Given the description of an element on the screen output the (x, y) to click on. 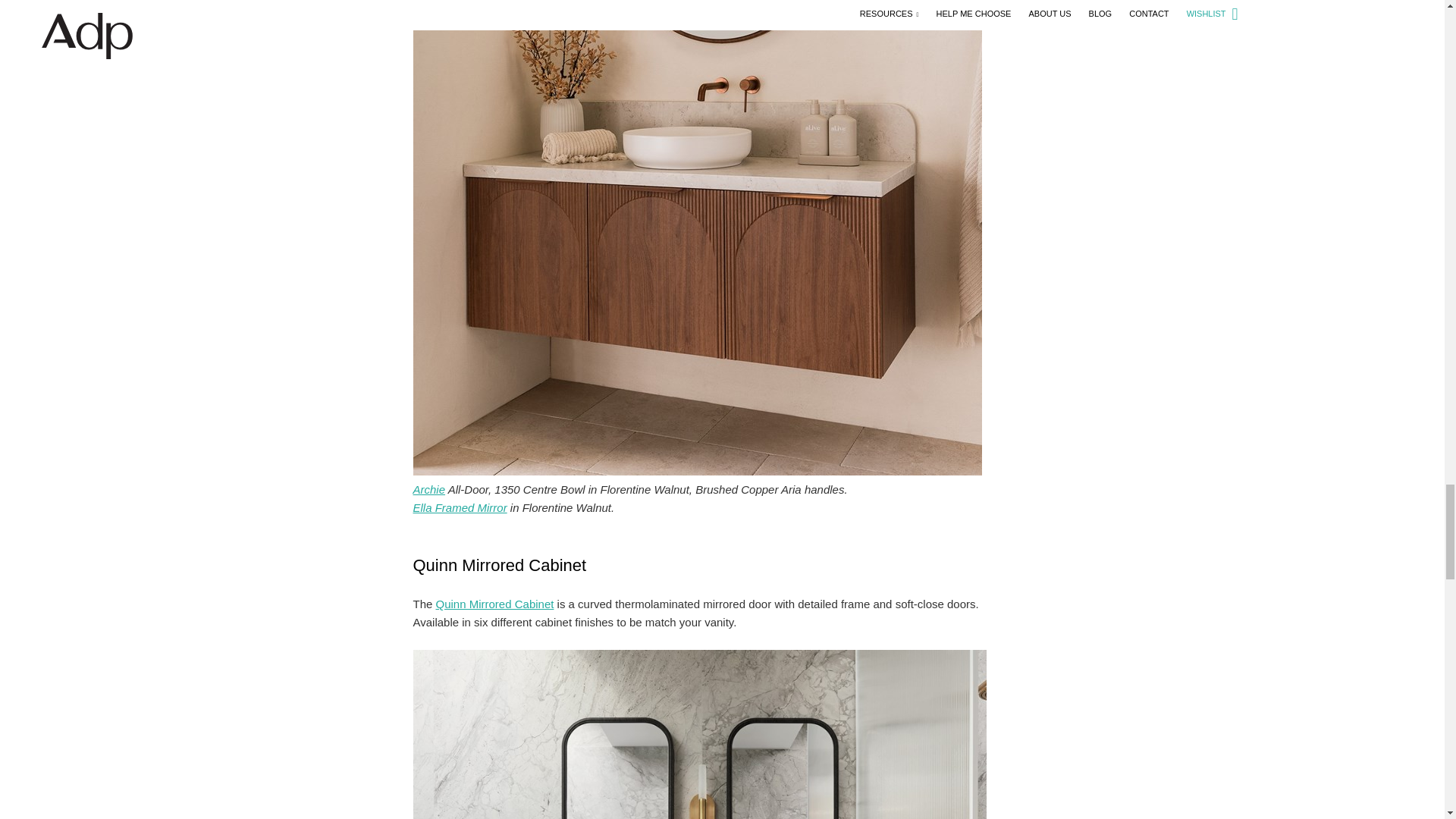
Archie (428, 489)
Quinn (494, 603)
Ella (459, 507)
